Given the description of an element on the screen output the (x, y) to click on. 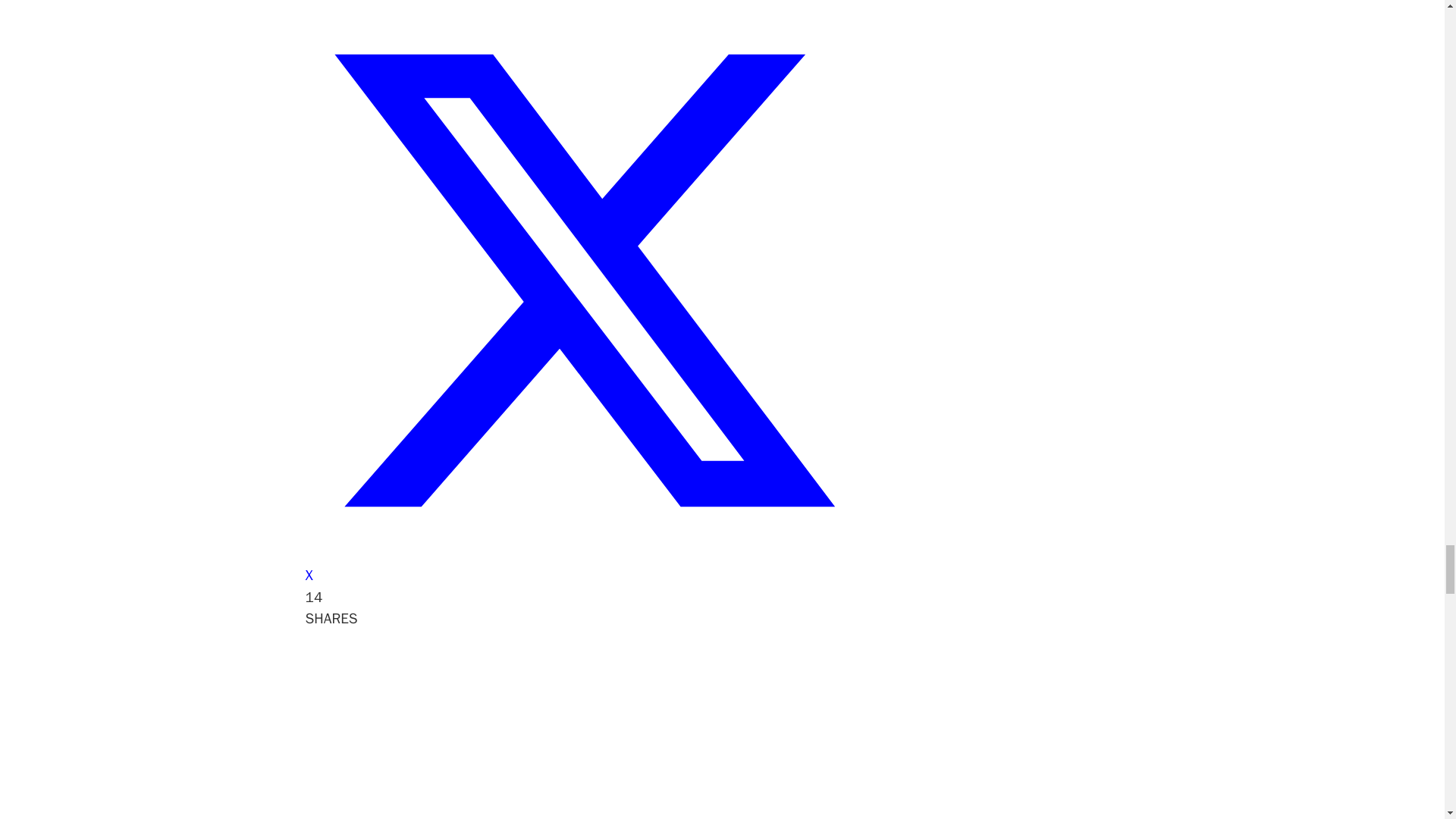
X (582, 565)
